Given the description of an element on the screen output the (x, y) to click on. 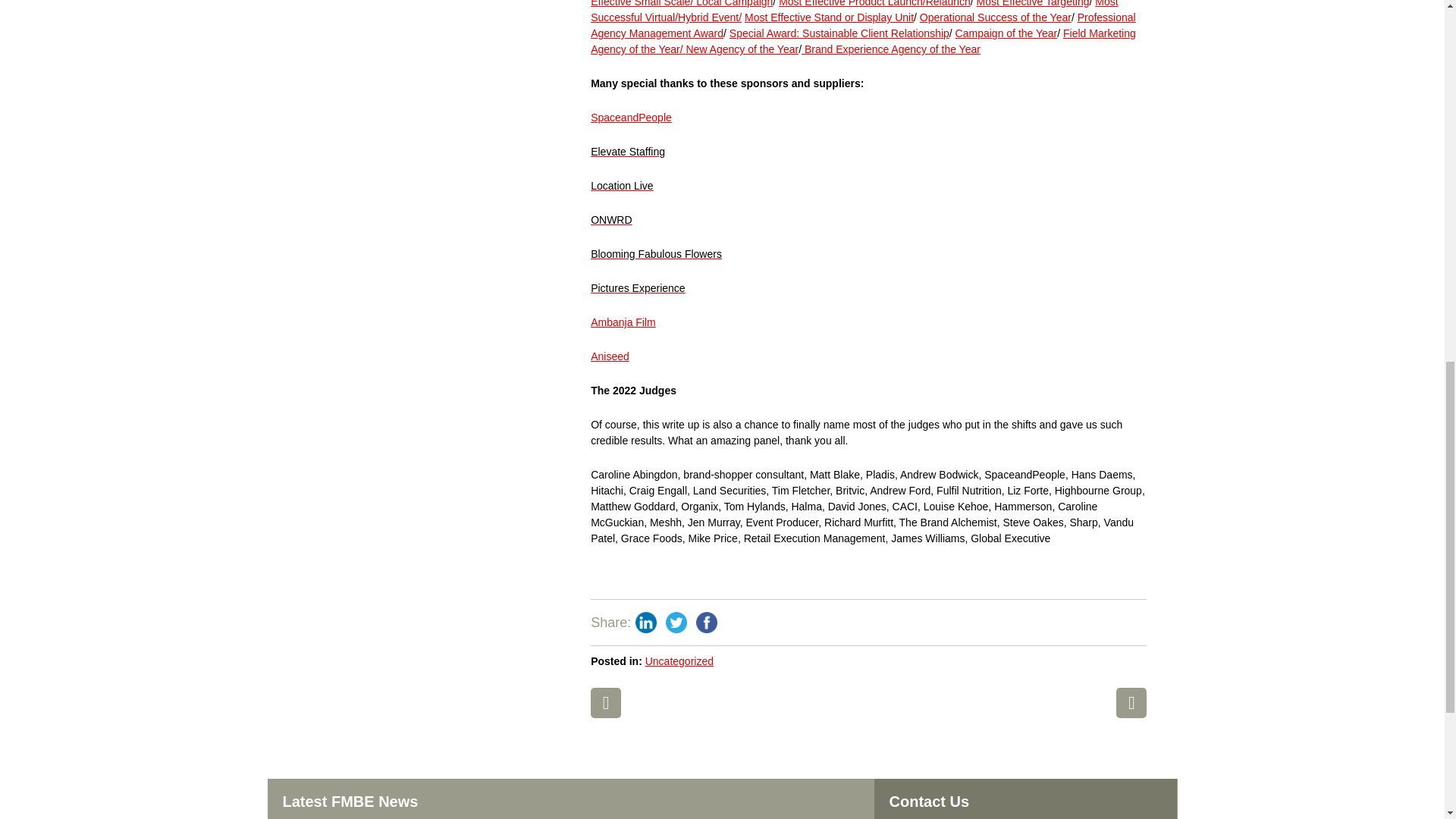
LinkedIn (645, 622)
Twitter (676, 622)
Facebook (706, 622)
